Given the description of an element on the screen output the (x, y) to click on. 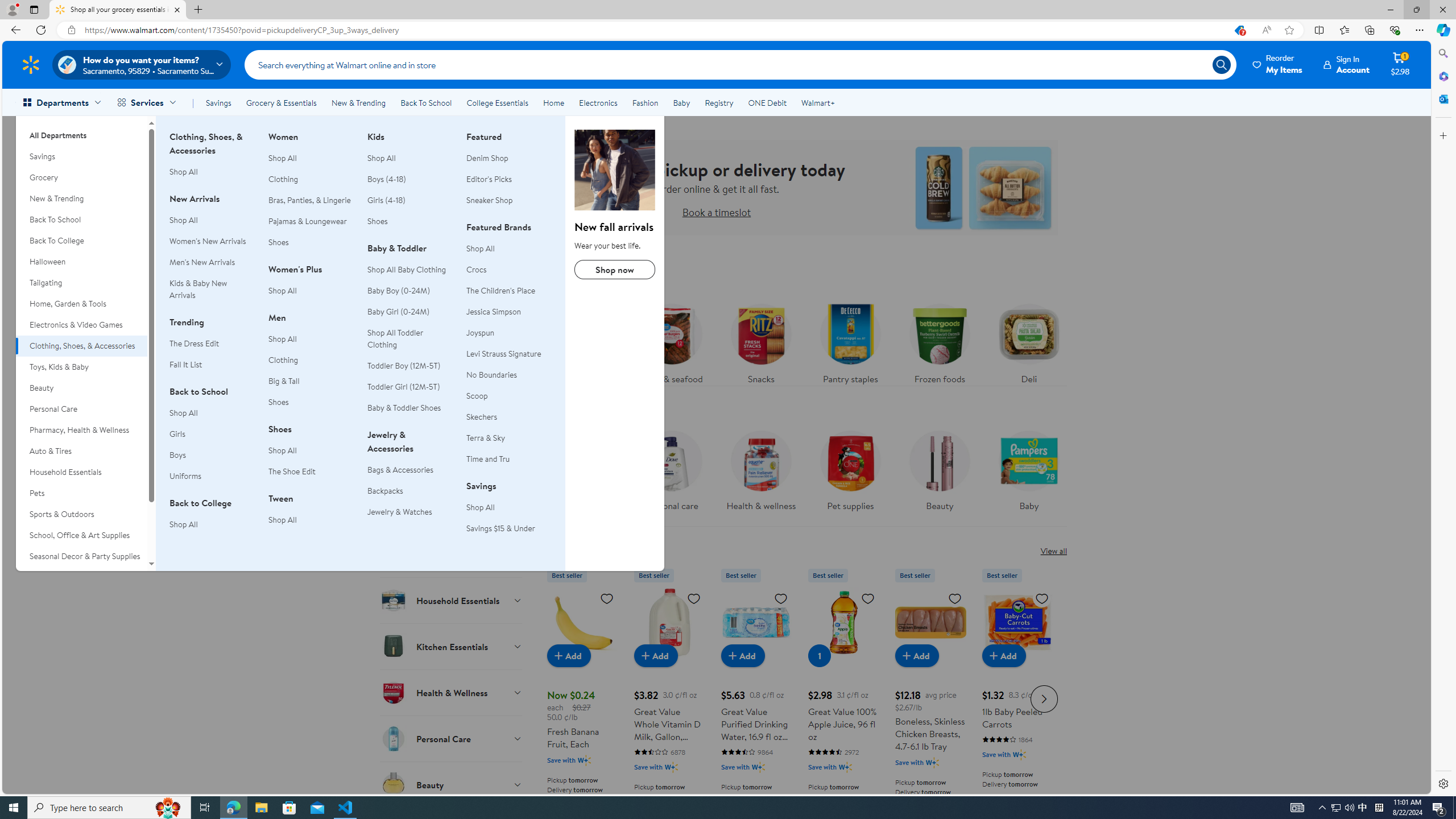
Clothing (282, 360)
1lb Baby Peeled Carrots (1017, 621)
Beauty (451, 784)
Beauty (938, 473)
Snacks (761, 340)
Fall It List (211, 364)
Savings $15 & Under (500, 527)
Halloween (81, 261)
Meat & seafood (671, 340)
Fresh Banana Fruit, Each (582, 621)
Reorder My Items (1277, 64)
Sneaker Shop (488, 199)
